Given the description of an element on the screen output the (x, y) to click on. 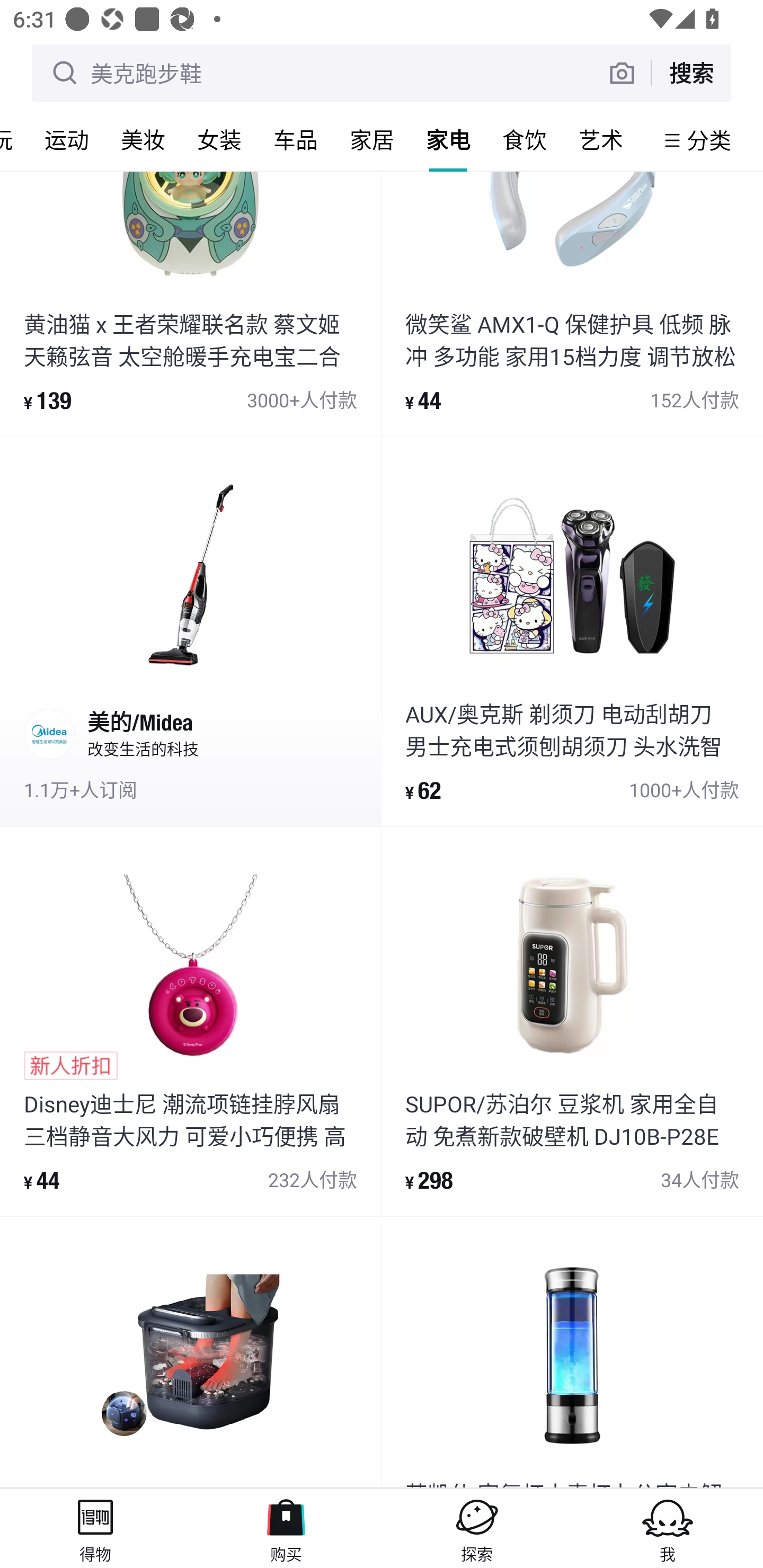
搜索 (690, 72)
运动 (66, 139)
美妆 (143, 139)
女装 (219, 139)
车品 (295, 139)
家居 (372, 139)
家电 (448, 139)
食饮 (524, 139)
艺术 (601, 139)
分类 (708, 139)
美的/Midea 改变生活的科技 1.1万+人订阅 (190, 631)
得物 (95, 1528)
购买 (285, 1528)
探索 (476, 1528)
我 (667, 1528)
